Given the description of an element on the screen output the (x, y) to click on. 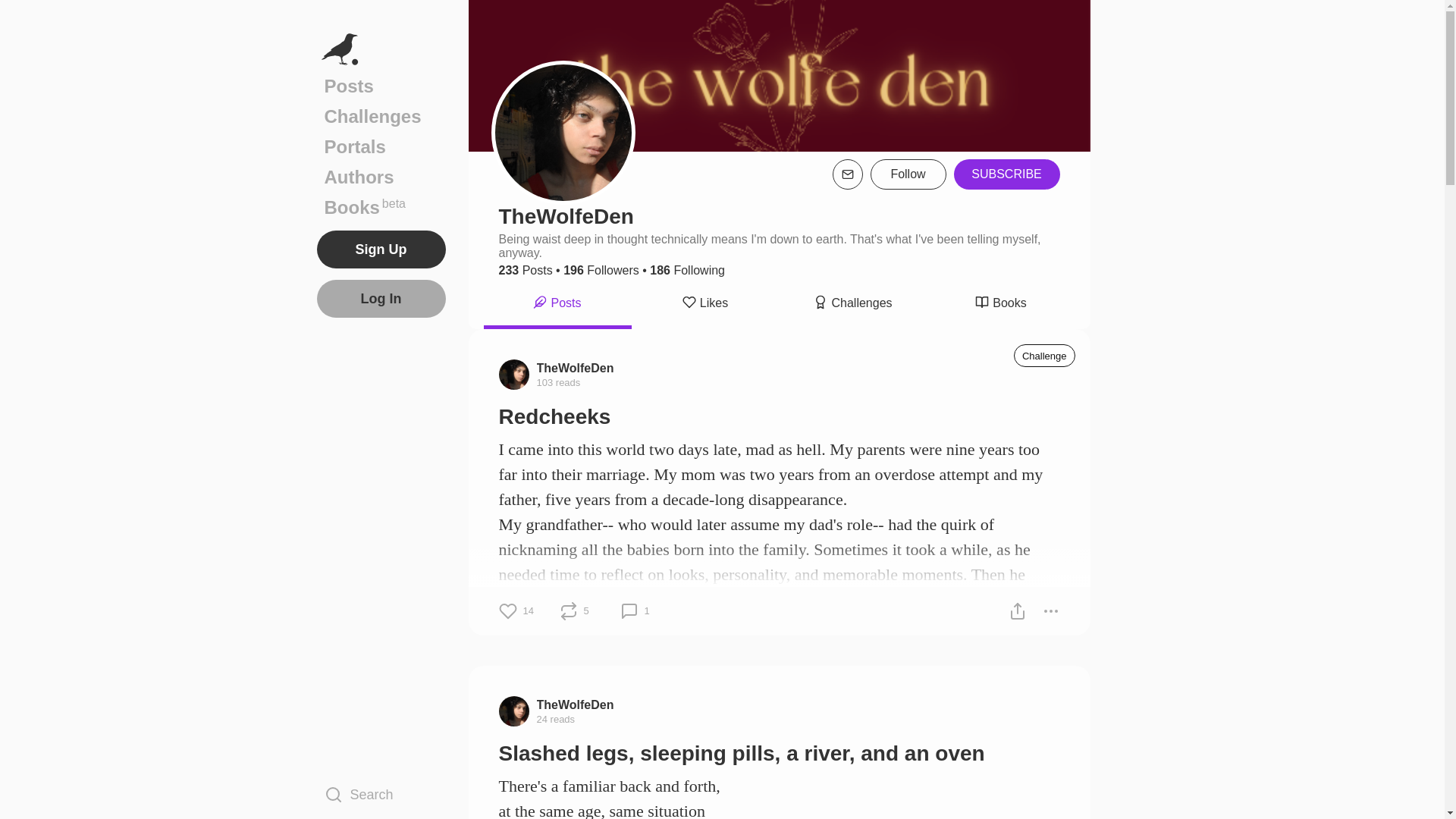
TheWolfeDen (575, 703)
Challenges (381, 116)
186 Following (687, 269)
TheWolfeDen (575, 367)
196 Followers (601, 269)
Search (381, 794)
Books (1000, 305)
233 Posts (381, 207)
Posts (526, 269)
